Given the description of an element on the screen output the (x, y) to click on. 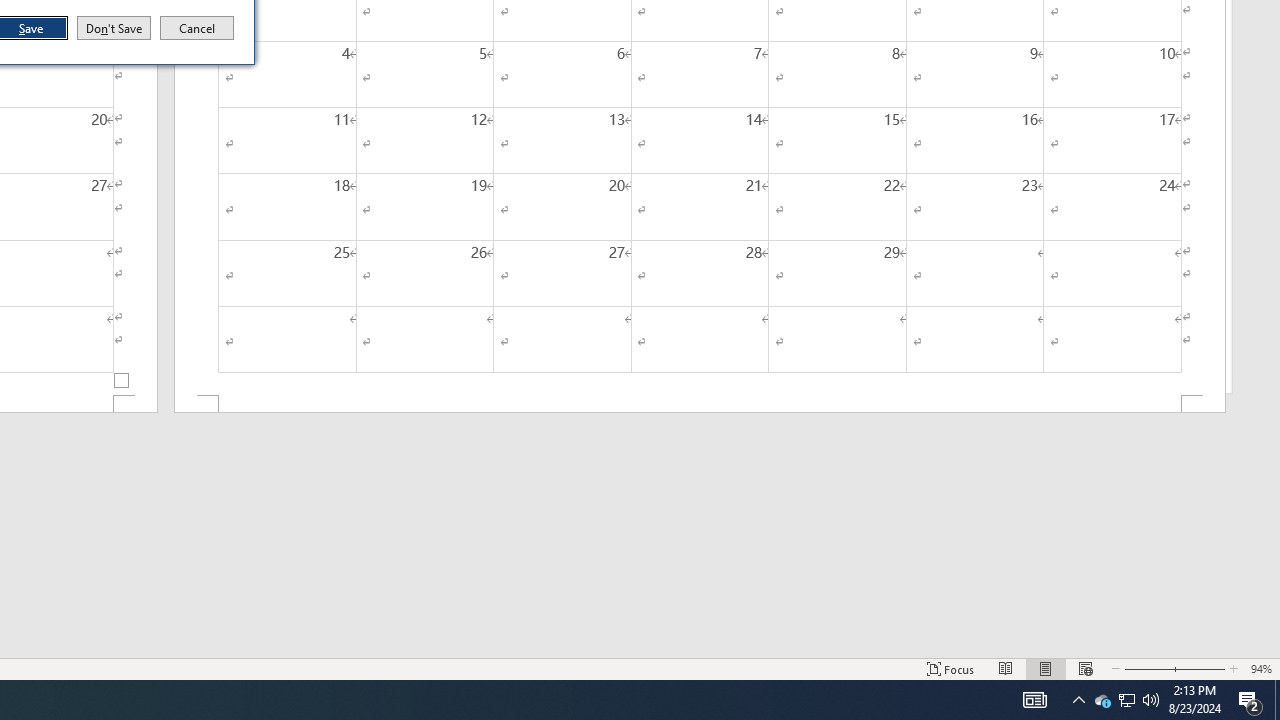
Zoom Out (1147, 668)
Print Layout (1046, 668)
Focus  (951, 668)
Footer -Section 2- (700, 404)
Cancel (197, 27)
Notification Chevron (1078, 699)
Zoom In (1199, 668)
Web Layout (1085, 668)
Read Mode (1005, 668)
User Promoted Notification Area (1126, 699)
AutomationID: 4105 (1034, 699)
Q2790: 100% (1151, 699)
